Given the description of an element on the screen output the (x, y) to click on. 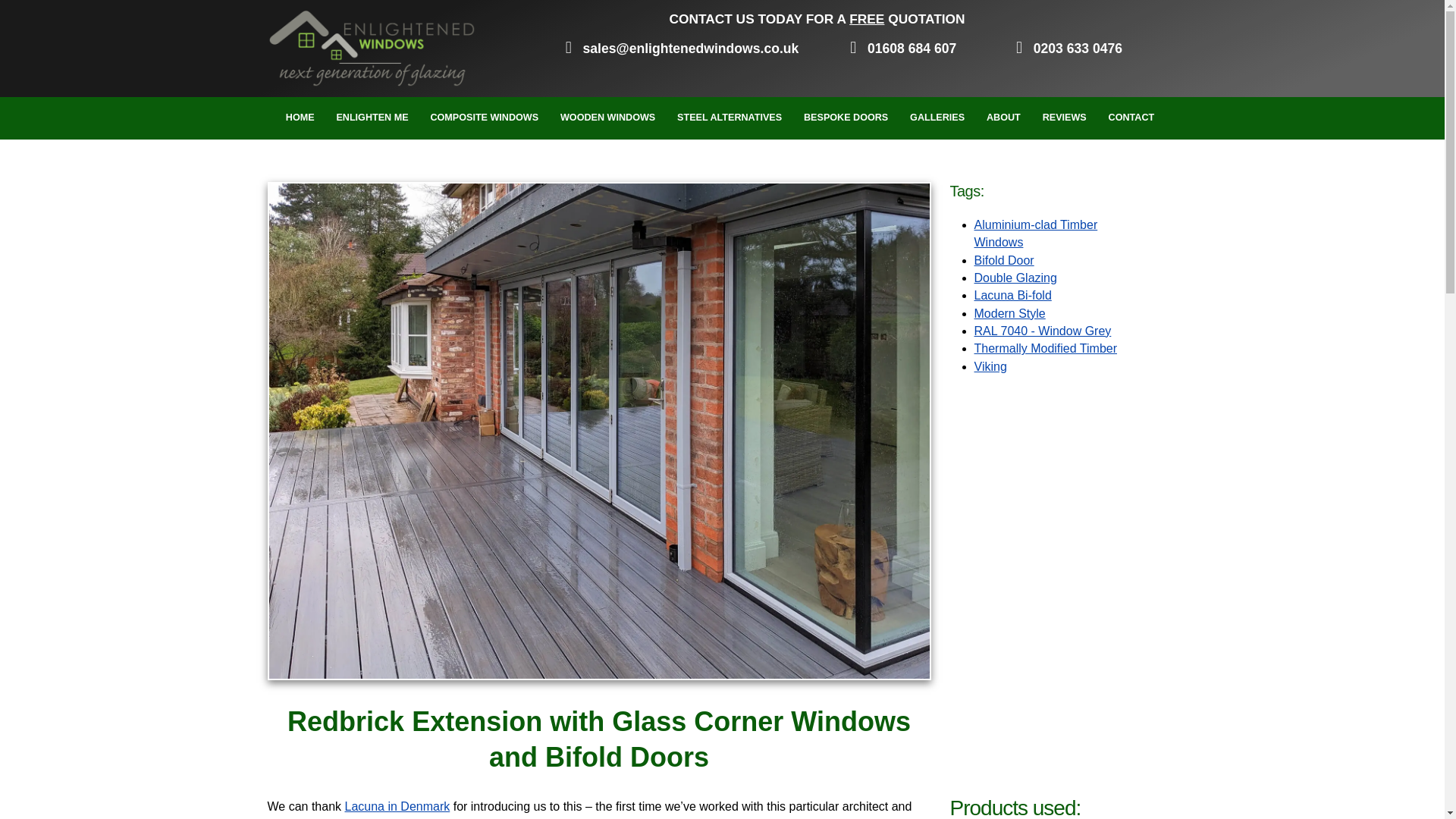
   01608 684 607 (899, 48)
   0203 633 0476 (1065, 48)
GALLERIES (937, 118)
WOODEN WINDOWS (607, 118)
ENLIGHTEN ME (372, 118)
HOME (299, 118)
COMPOSITE WINDOWS (484, 118)
STEEL ALTERNATIVES (729, 118)
BESPOKE DOORS (845, 118)
